Given the description of an element on the screen output the (x, y) to click on. 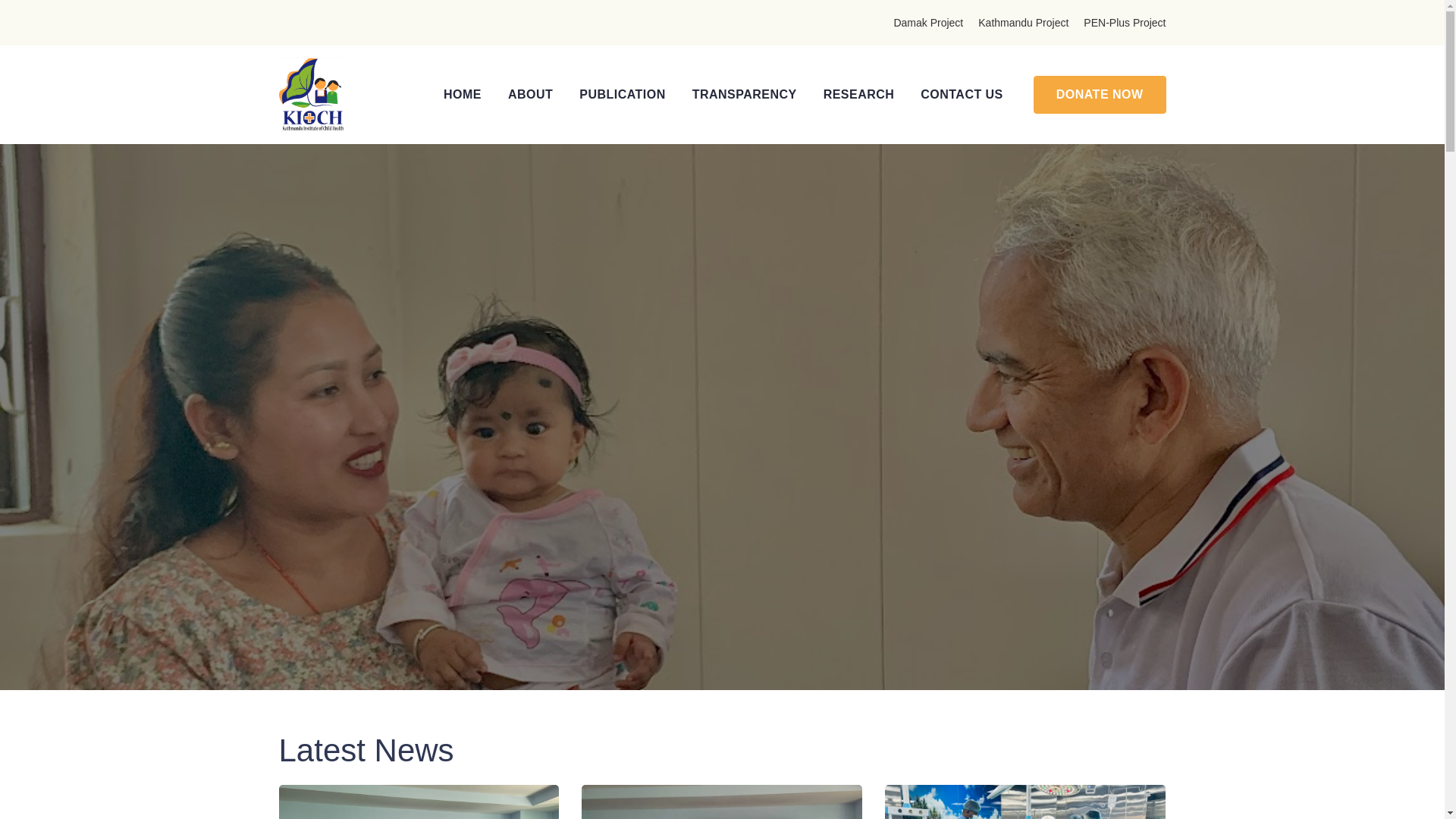
Kathmandu Project (1023, 22)
TRANSPARENCY (744, 94)
PUBLICATION (622, 94)
ABOUT (530, 94)
RESEARCH (859, 94)
CONTACT US (961, 94)
HOME (462, 94)
Damak Project (927, 22)
DONATE NOW (1099, 94)
PEN-Plus Project (1124, 22)
